Given the description of an element on the screen output the (x, y) to click on. 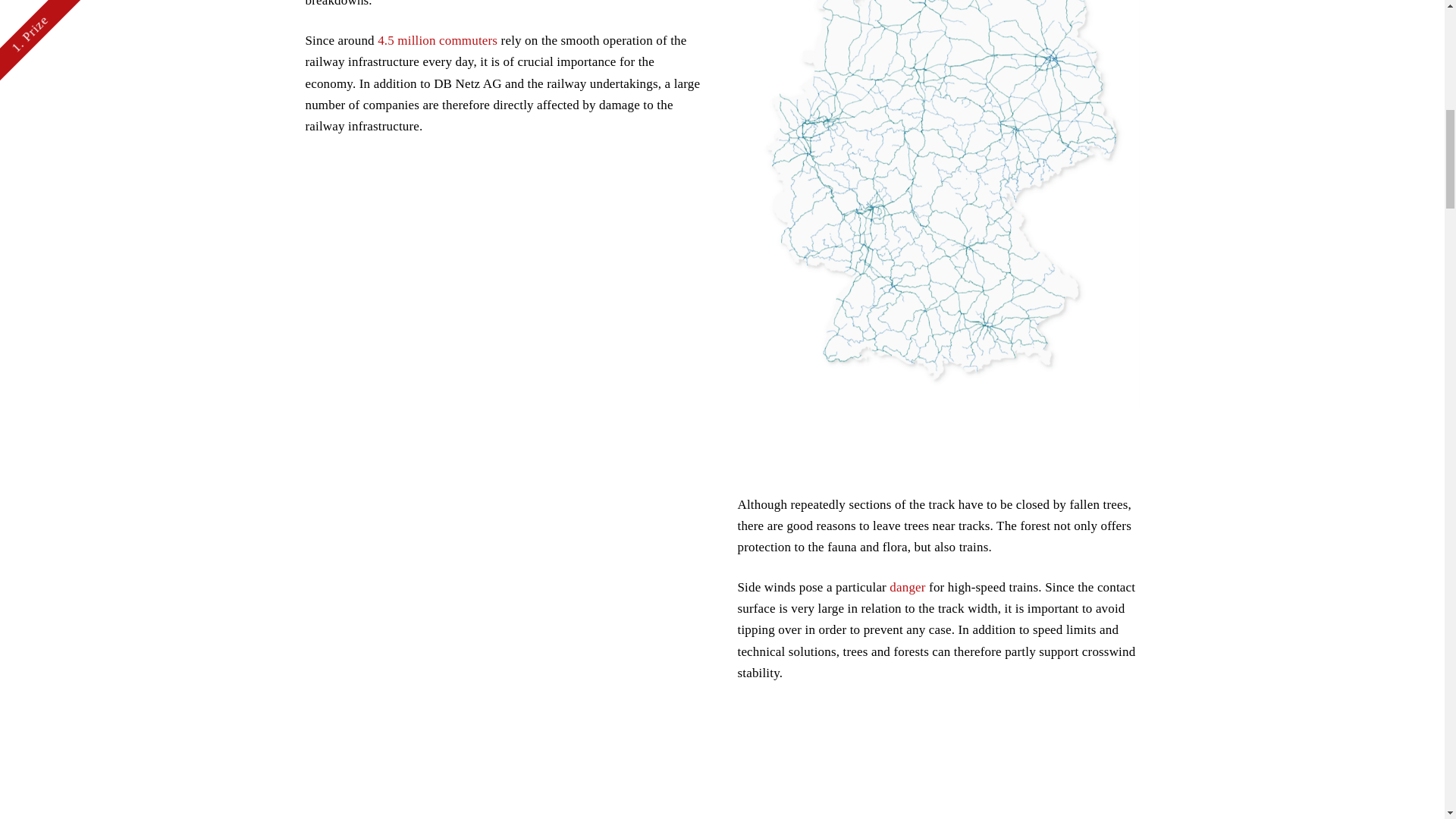
danger (906, 586)
4.5 million commuters (437, 40)
